Given the description of an element on the screen output the (x, y) to click on. 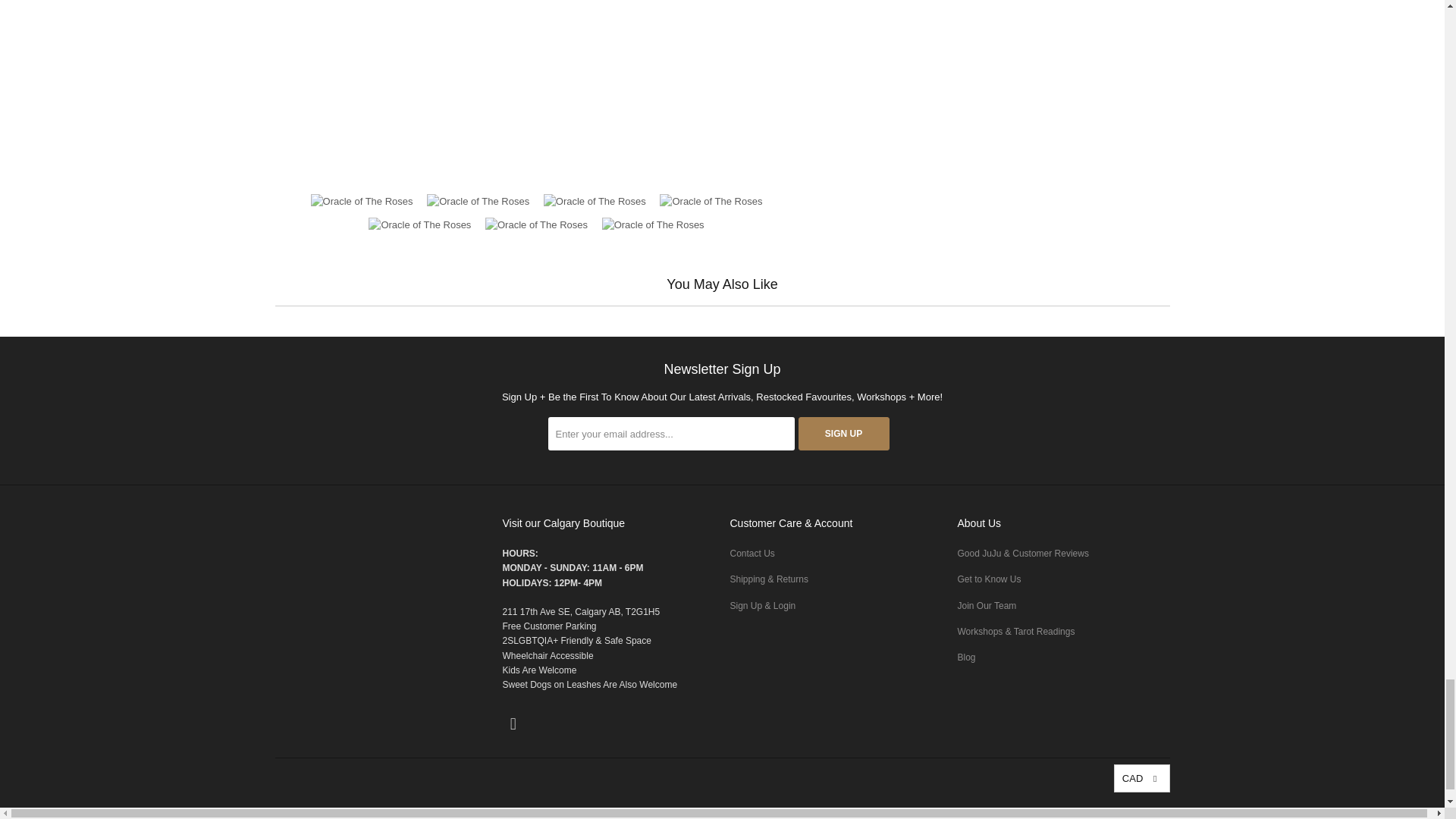
Sign Up (842, 433)
Diners Club (957, 813)
Discover (994, 813)
Mastercard (1034, 813)
Rite of Ritual on Instagram (513, 723)
Visa (1150, 813)
Shop Pay (1112, 813)
PayPal (1073, 813)
